Given the description of an element on the screen output the (x, y) to click on. 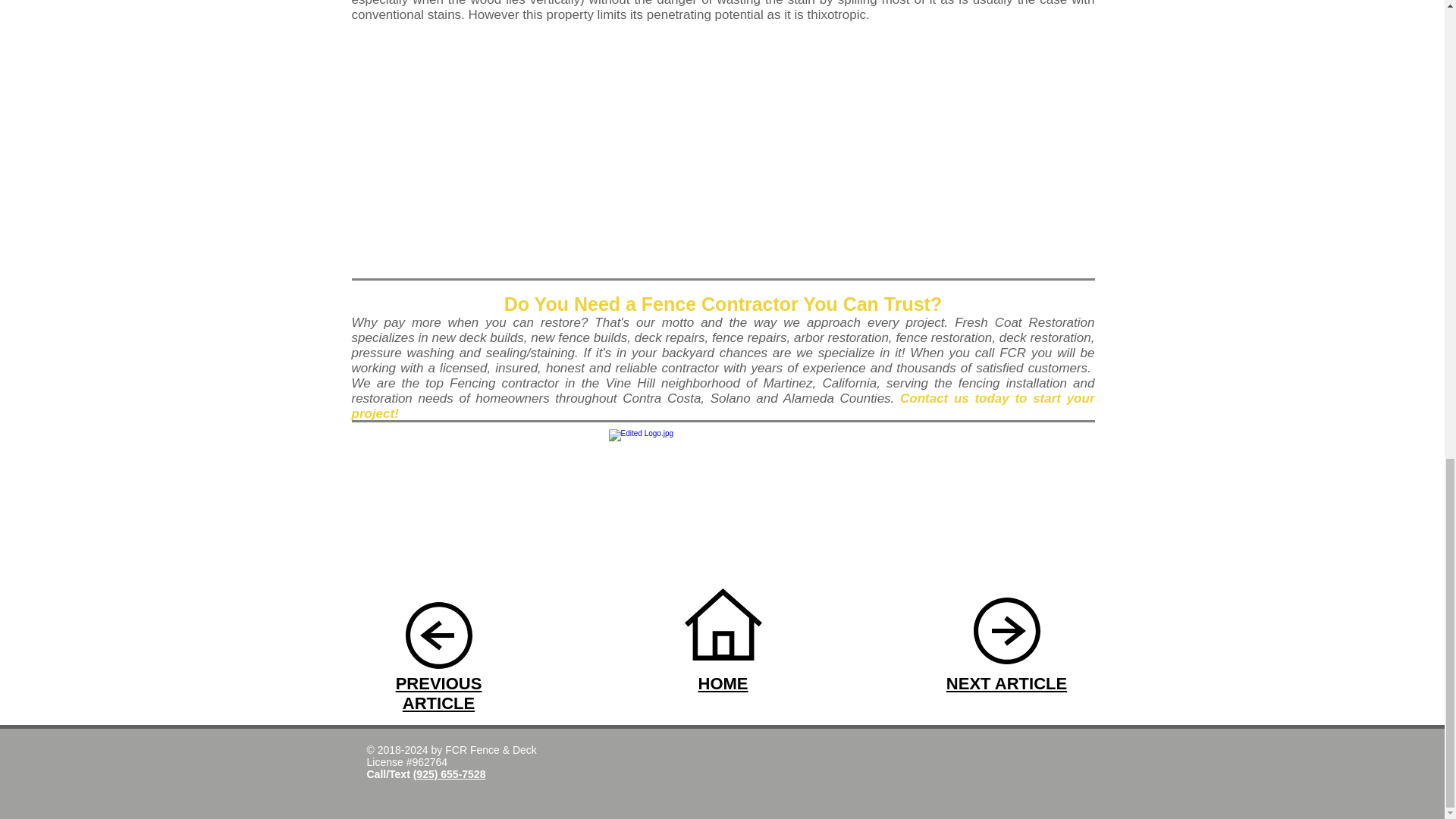
PREVIOUS ARTICLE (438, 693)
HOME (722, 683)
Contact us today to start your project! (723, 405)
NEXT ARTICLE (1006, 683)
